Given the description of an element on the screen output the (x, y) to click on. 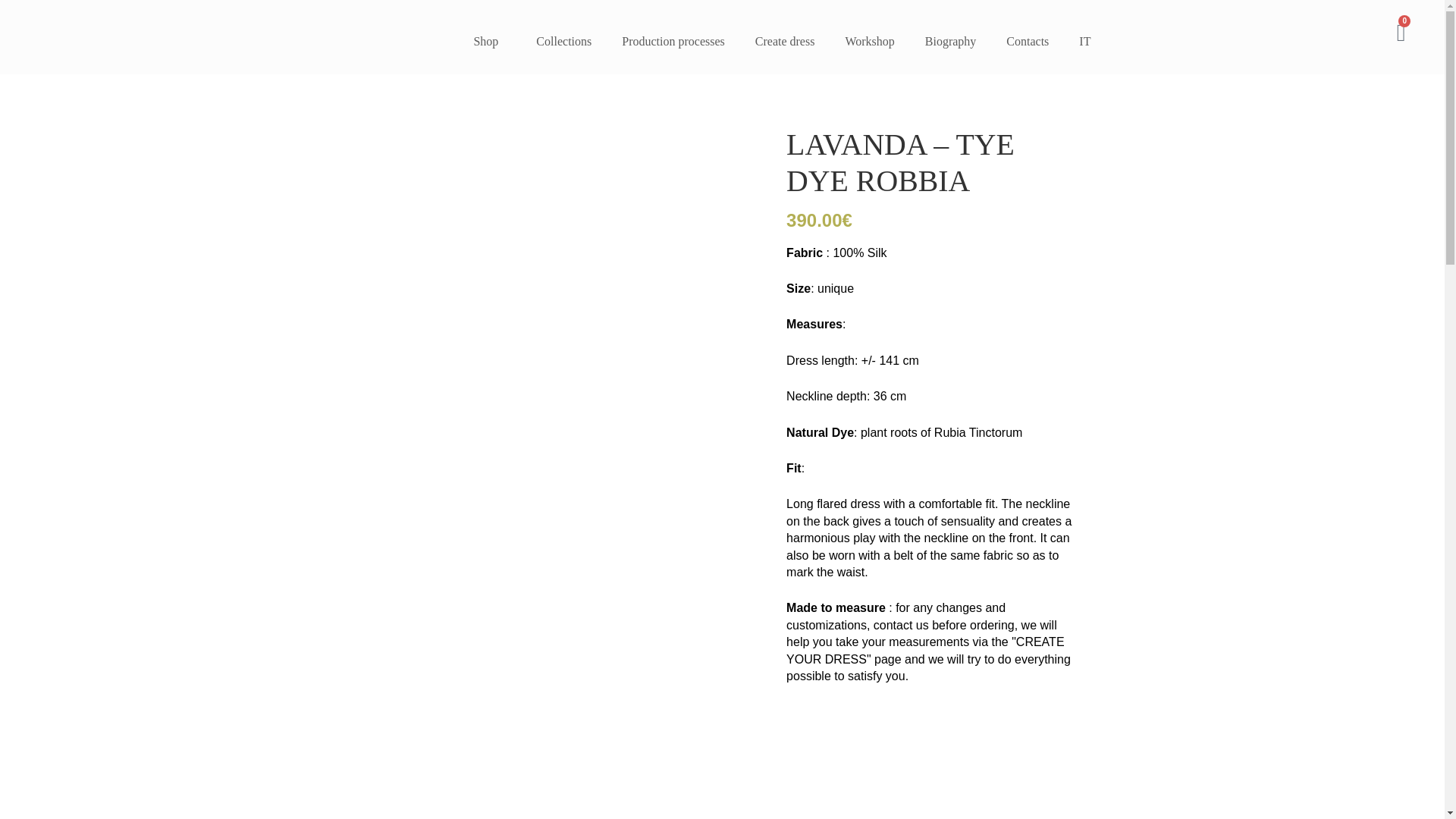
Biography (950, 41)
IT (1084, 41)
Shop (489, 41)
Create dress (784, 41)
Contacts (1027, 41)
0 (1400, 32)
Production processes (673, 41)
Workshop (868, 41)
Collections (564, 41)
